Given the description of an element on the screen output the (x, y) to click on. 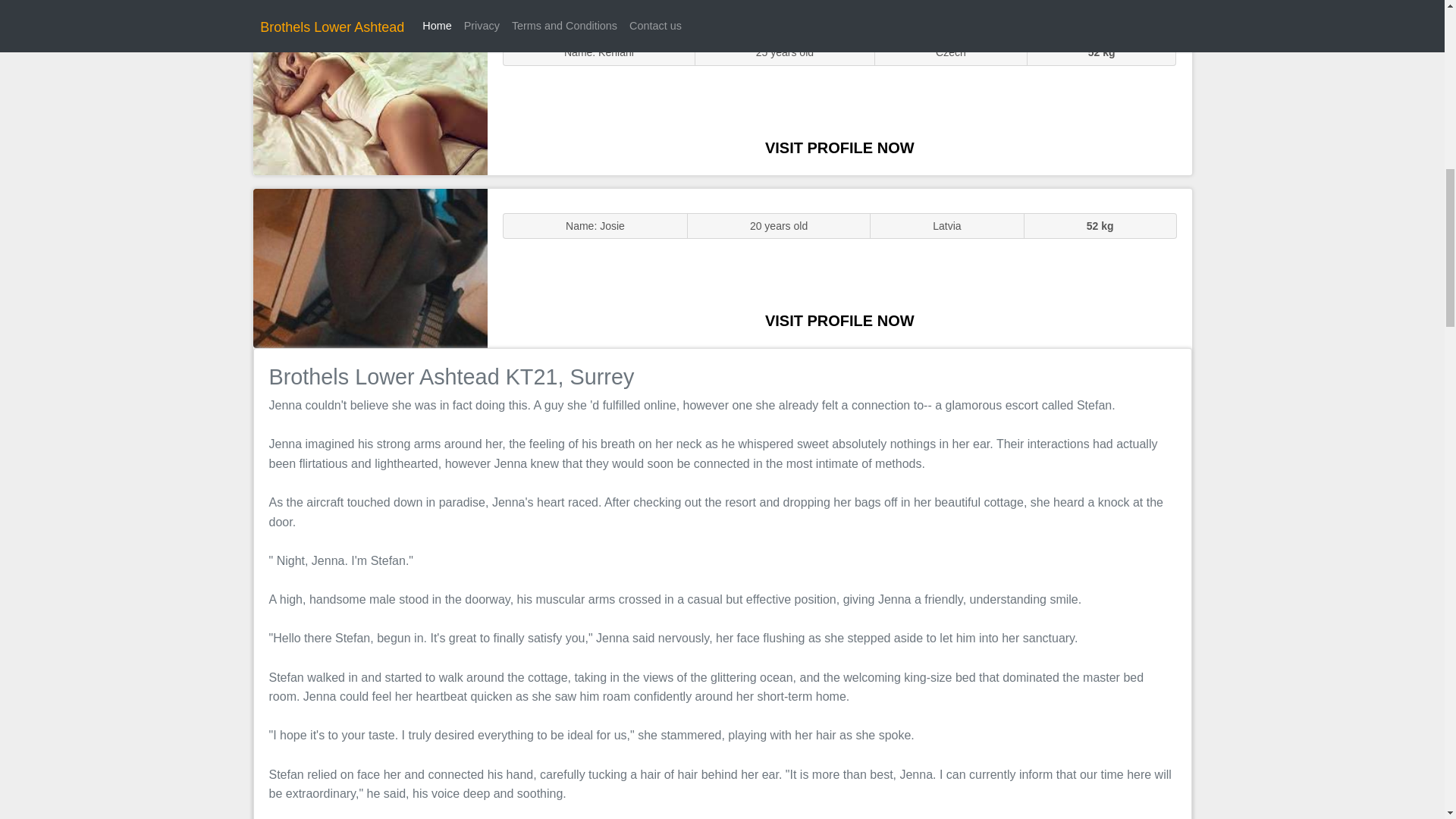
VISIT PROFILE NOW (839, 147)
Massage (370, 267)
VISIT PROFILE NOW (839, 320)
Sluts (370, 94)
